Given the description of an element on the screen output the (x, y) to click on. 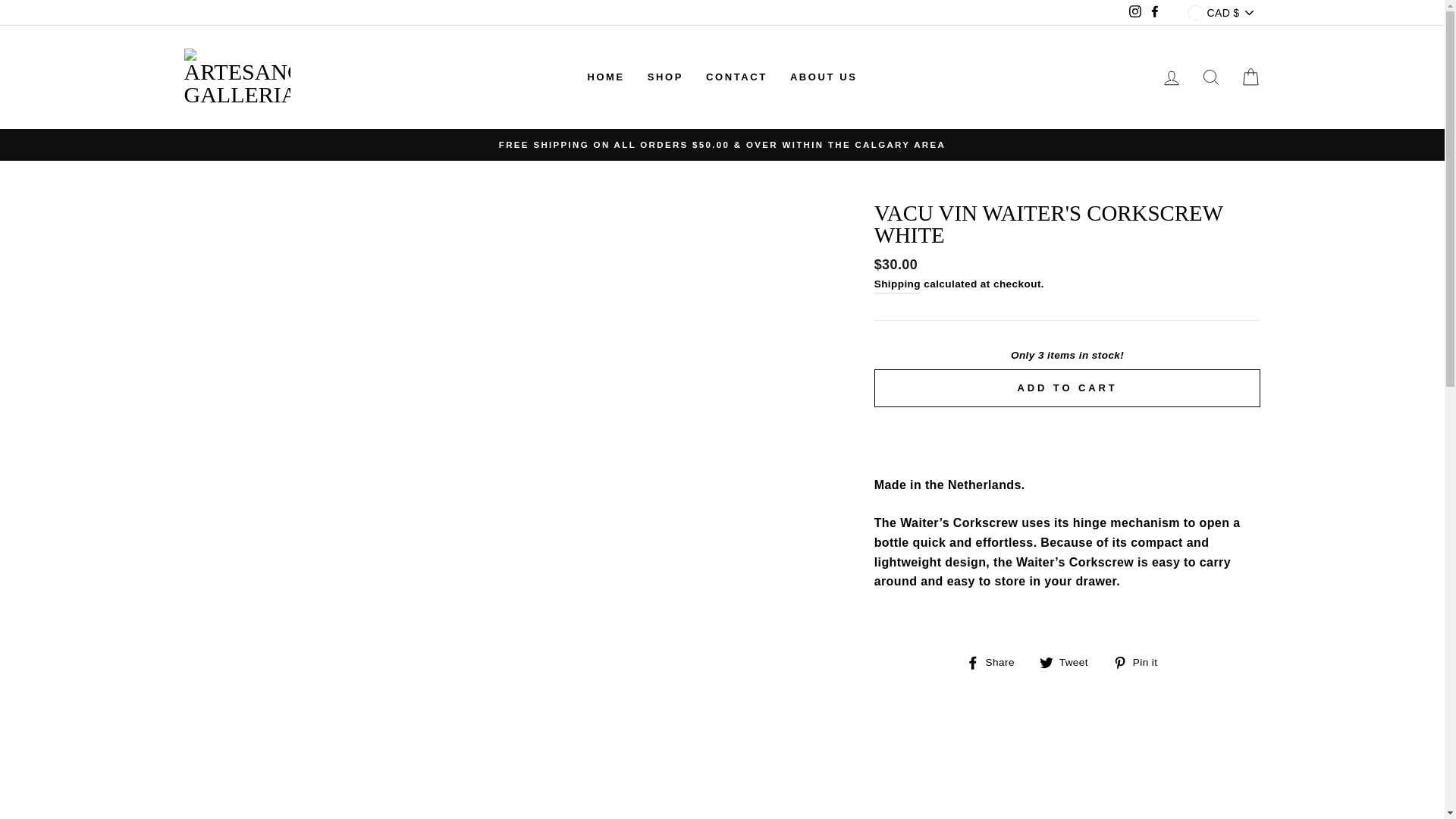
Share on Facebook (996, 661)
Tweet on Twitter (1069, 661)
Pin on Pinterest (1141, 661)
